Given the description of an element on the screen output the (x, y) to click on. 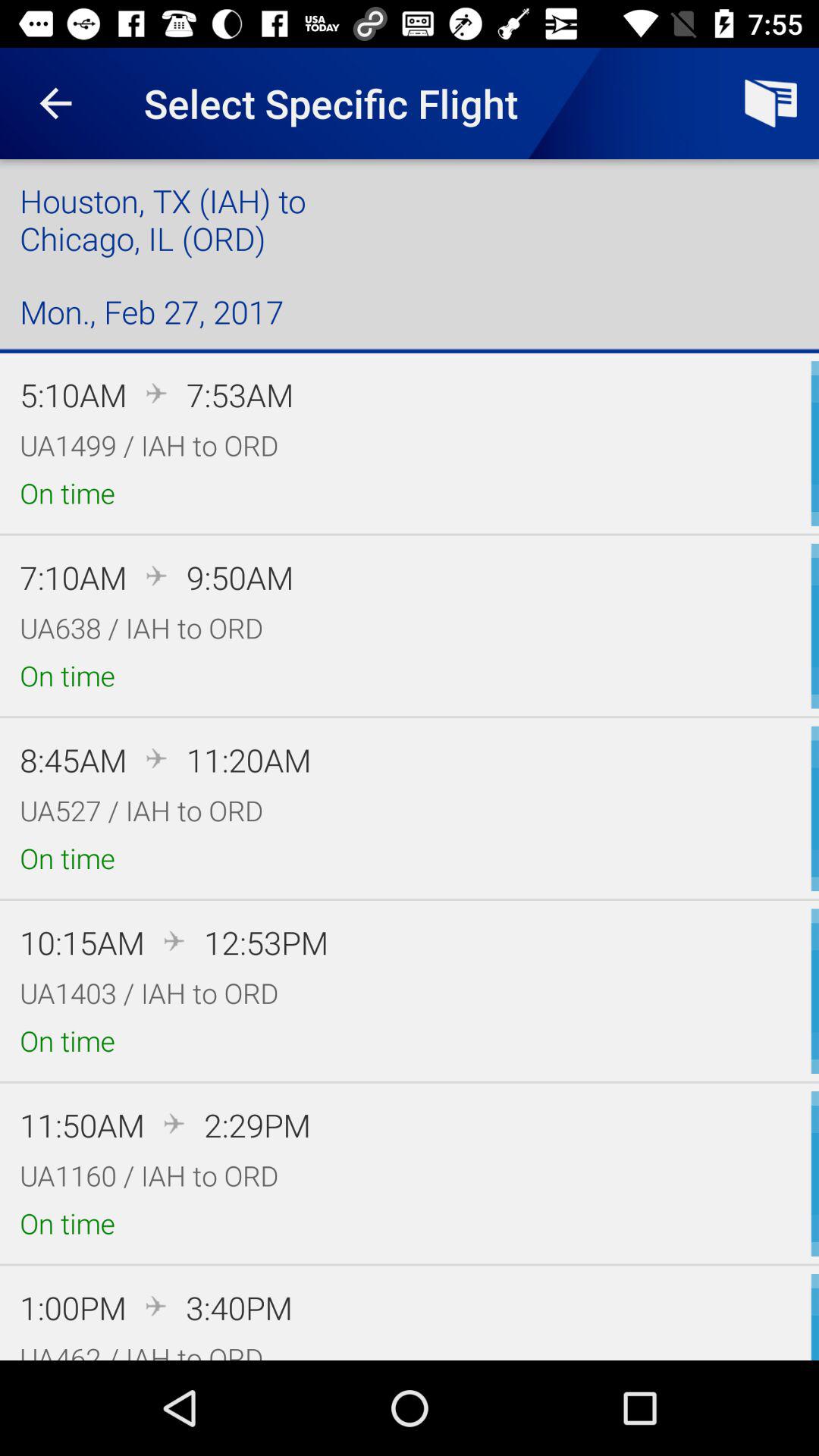
open the icon above the ua462 iah to icon (238, 1307)
